Given the description of an element on the screen output the (x, y) to click on. 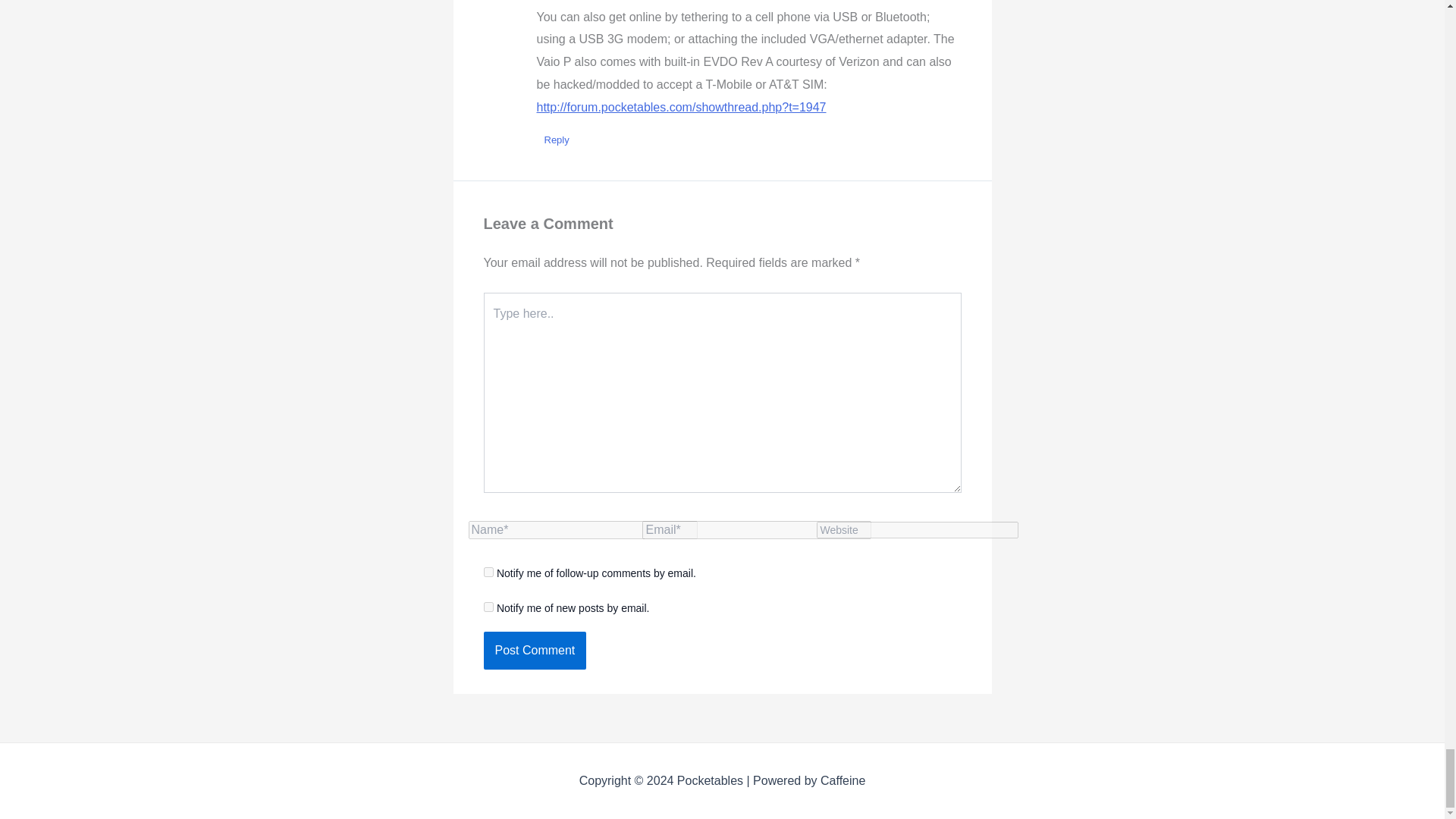
Post Comment (534, 650)
subscribe (488, 606)
subscribe (488, 572)
